Given the description of an element on the screen output the (x, y) to click on. 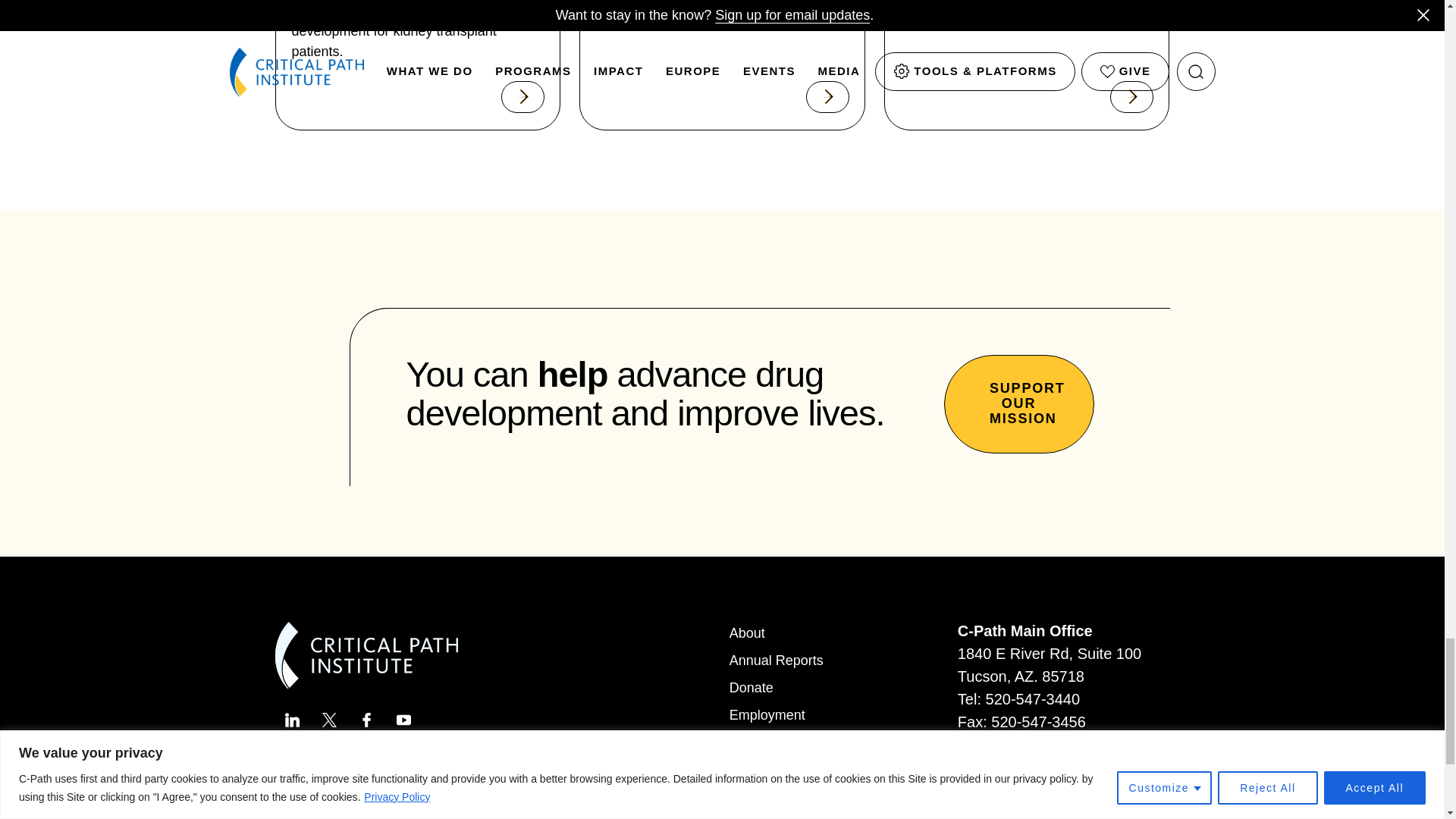
Support Our Mission (1018, 403)
